Given the description of an element on the screen output the (x, y) to click on. 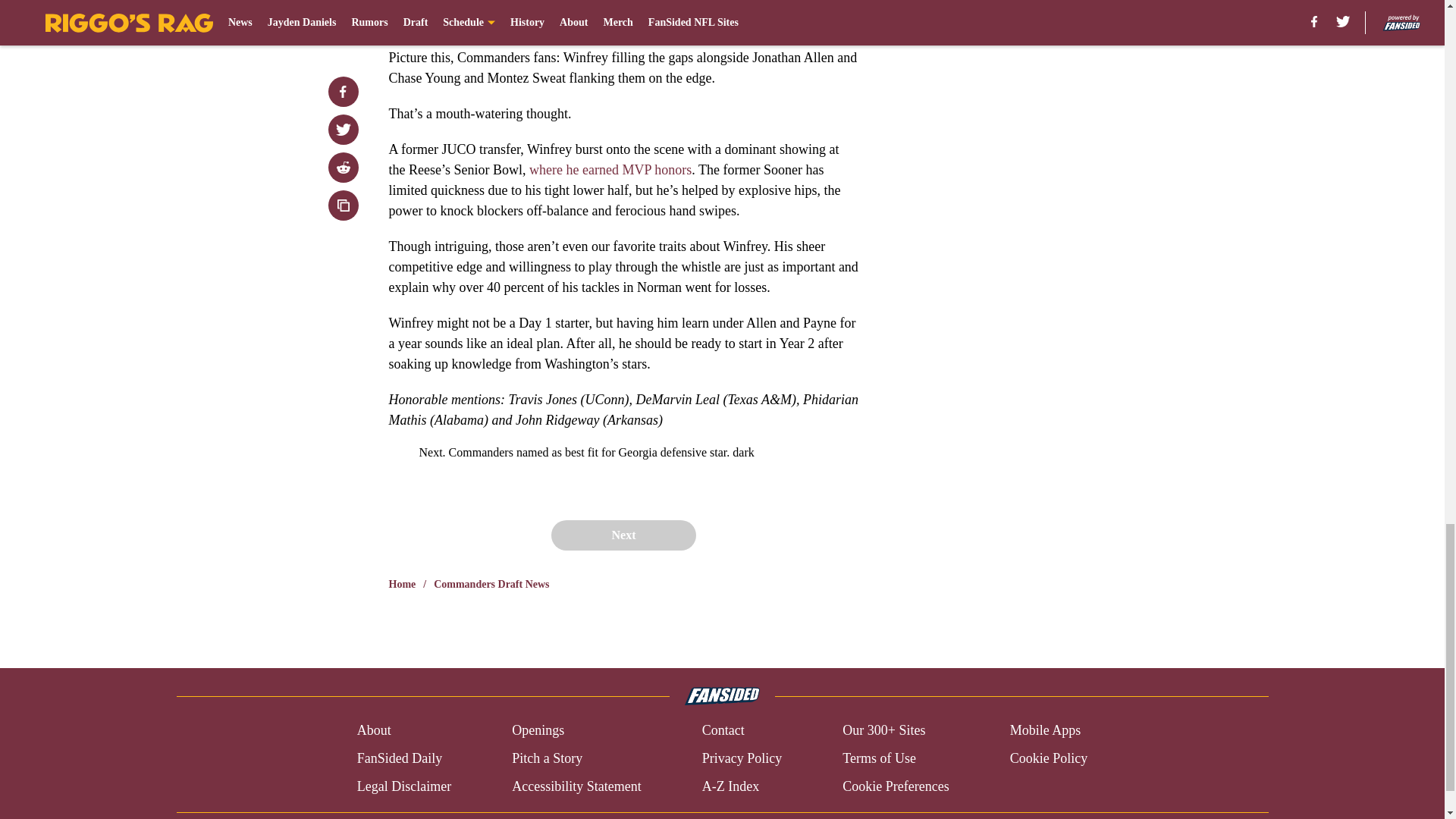
Accessibility Statement (576, 786)
Pitch a Story (547, 758)
Commanders Draft News (490, 584)
Home (401, 584)
Terms of Use (879, 758)
Contact (722, 730)
About (373, 730)
Privacy Policy (742, 758)
FanSided Daily (399, 758)
where he earned MVP honors (610, 169)
